Given the description of an element on the screen output the (x, y) to click on. 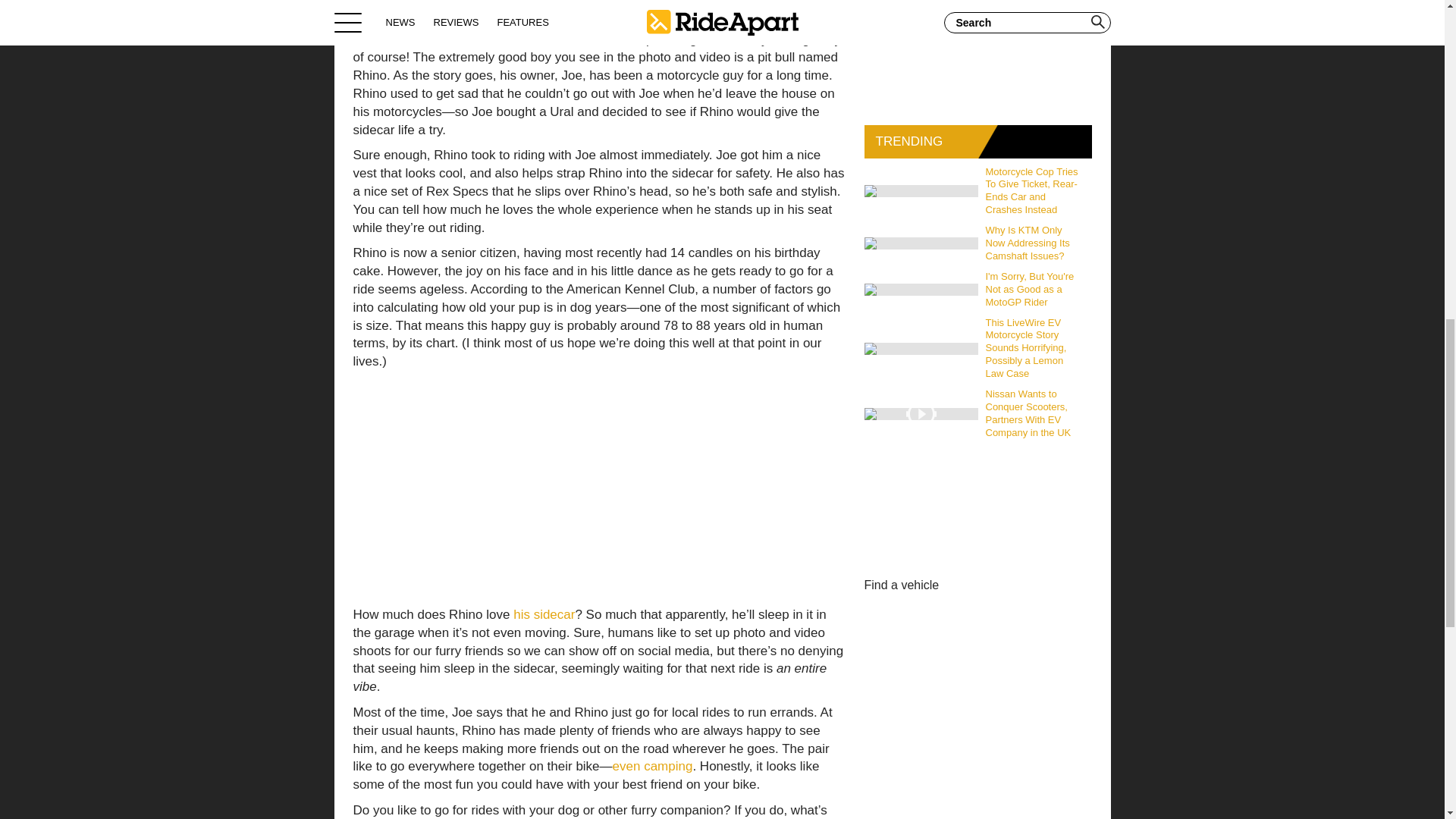
even camping (652, 766)
I'm Sorry, But You're Not as Good as a MotoGP Rider (1035, 290)
Why Is KTM Only Now Addressing Its Camshaft Issues? (1035, 243)
his sidecar (544, 614)
